Given the description of an element on the screen output the (x, y) to click on. 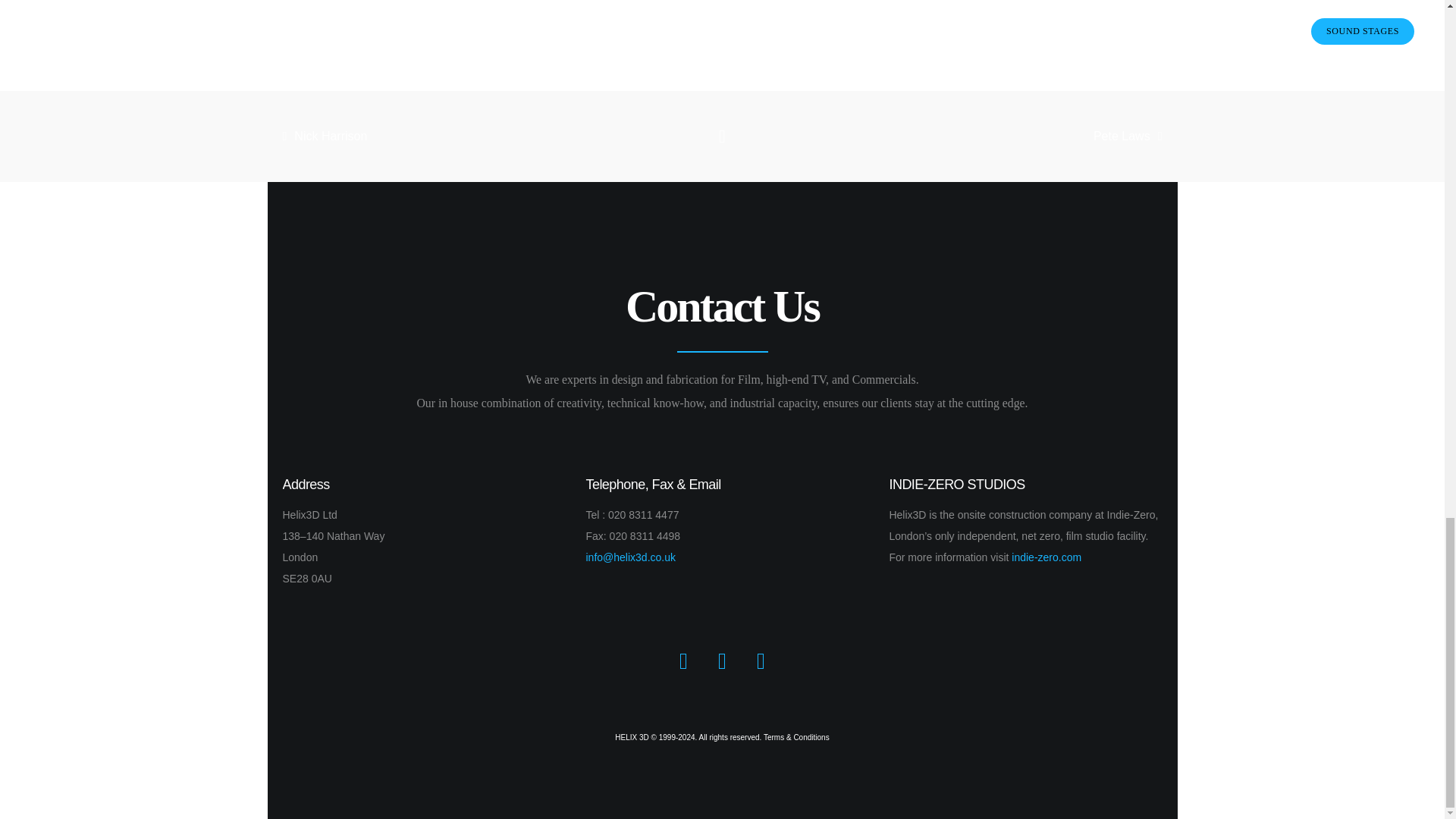
indie-zero.com (1046, 557)
Pete Laws (1020, 135)
Nick Harrison (423, 135)
